Given the description of an element on the screen output the (x, y) to click on. 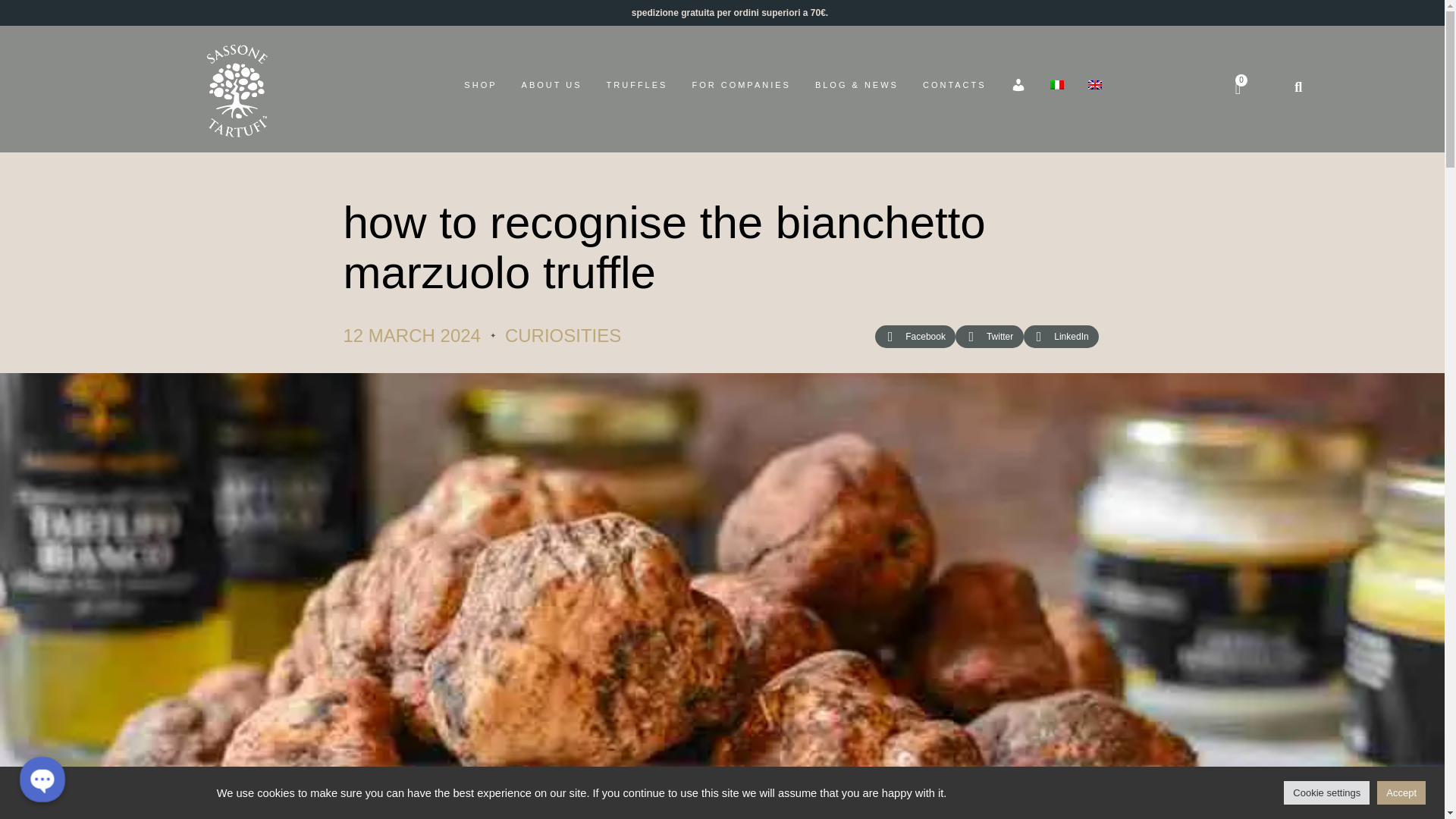
CONTACTS (954, 84)
FOR COMPANIES (740, 84)
ABOUT US (551, 84)
SHOP (480, 84)
TRUFFLES (636, 84)
